Given the description of an element on the screen output the (x, y) to click on. 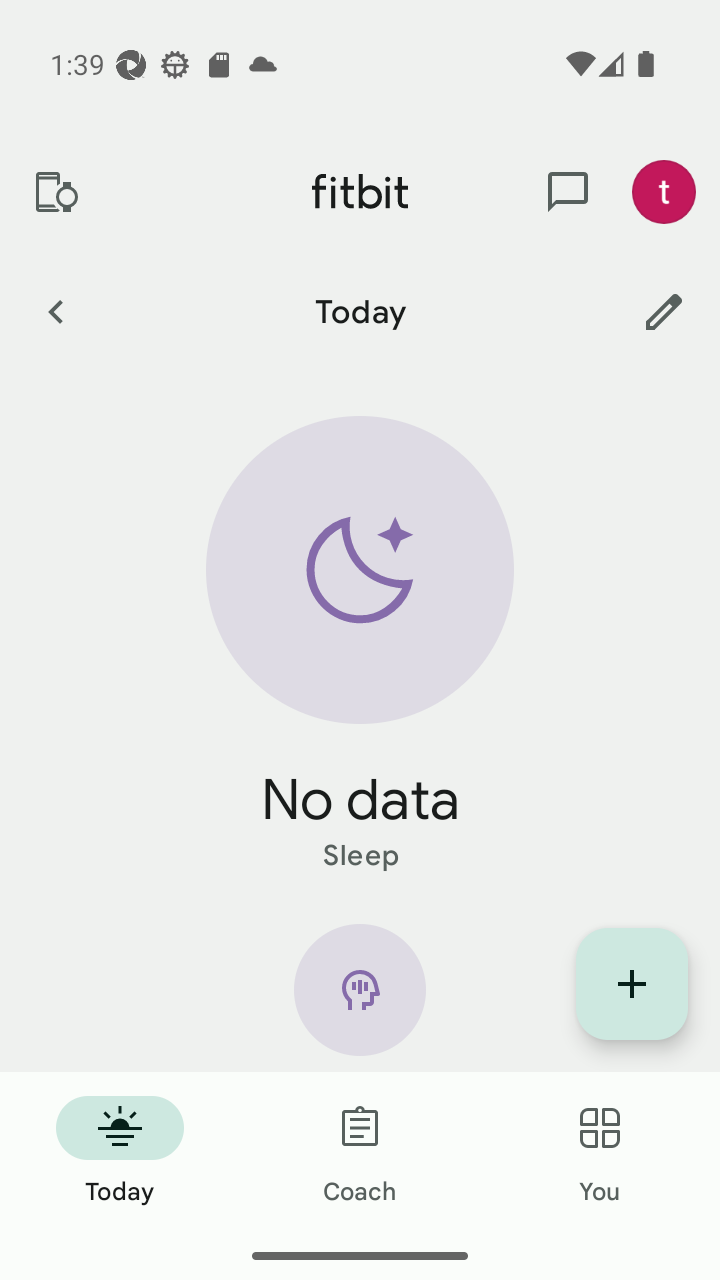
Devices and apps (55, 191)
messages and notifications (567, 191)
Previous Day (55, 311)
Customize (664, 311)
Sleep static hero arc No data Sleep (359, 645)
Mindfulness icon (360, 998)
Display list of quick log entries (632, 983)
Coach (359, 1151)
You (600, 1151)
